Given the description of an element on the screen output the (x, y) to click on. 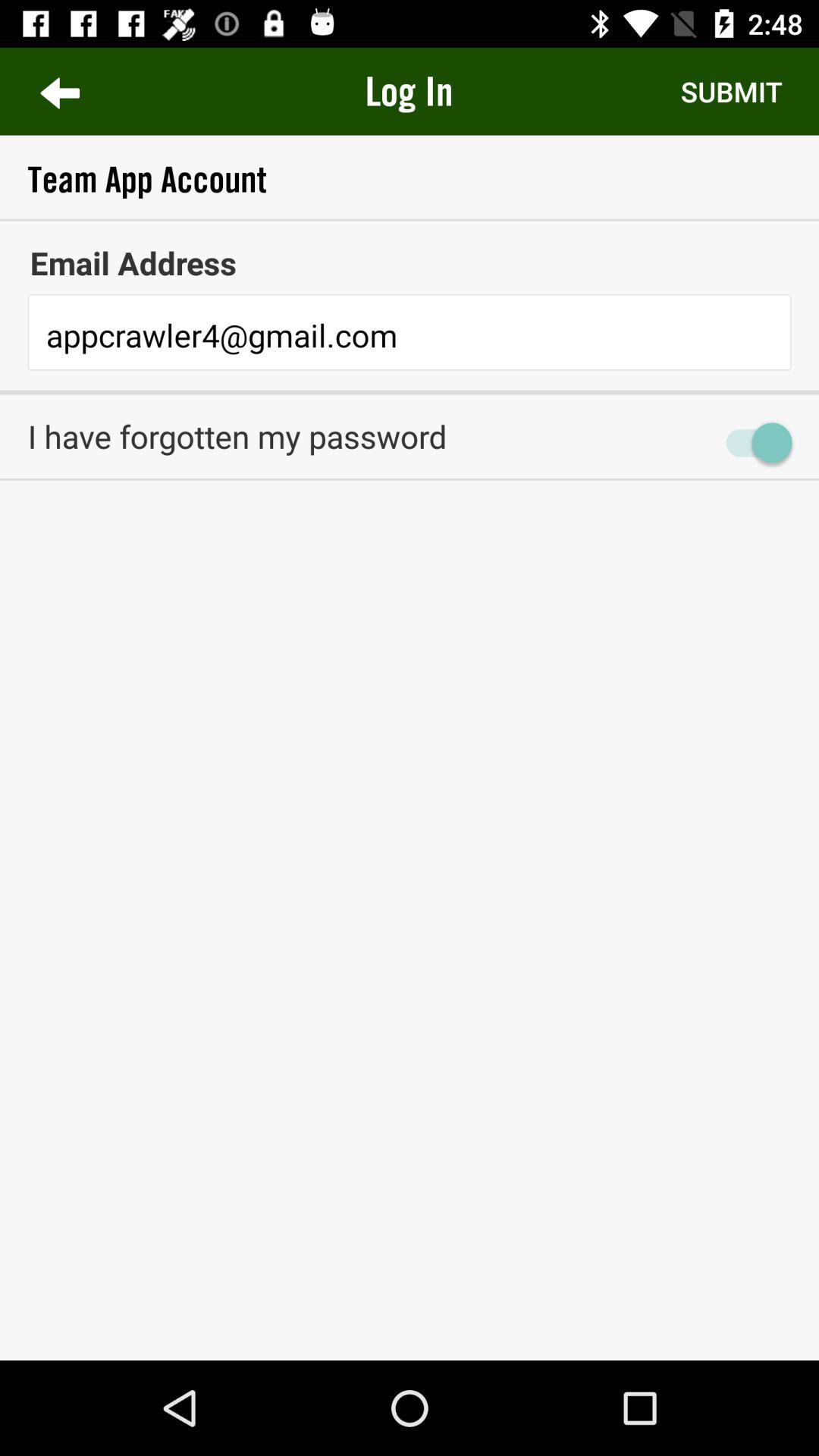
turn off the item above team app account (409, 91)
